Given the description of an element on the screen output the (x, y) to click on. 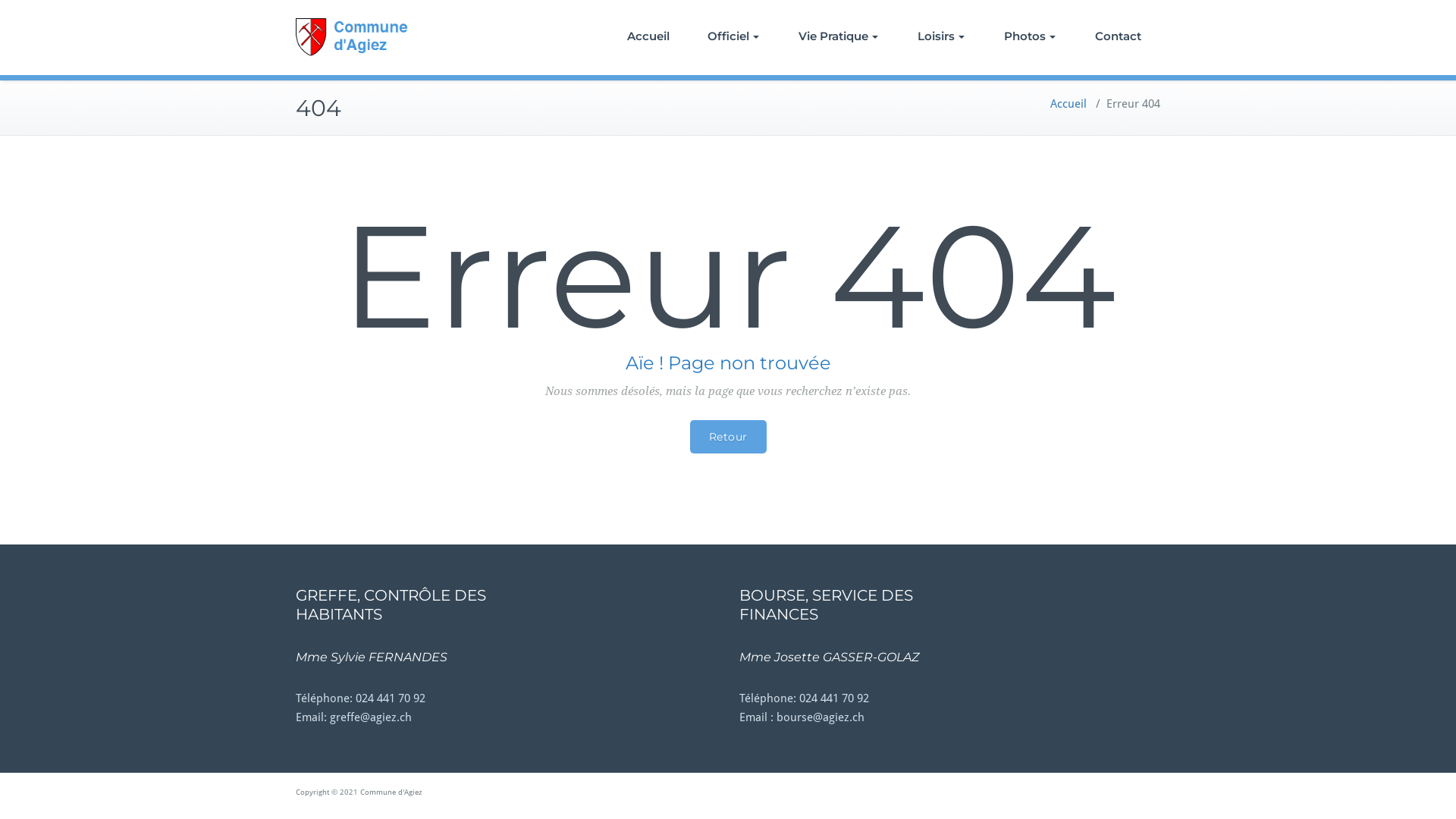
Photos Element type: text (1029, 36)
Officiel Element type: text (733, 36)
Vie Pratique Element type: text (838, 36)
Contact Element type: text (1118, 36)
Accueil Element type: text (648, 36)
Retour Element type: text (728, 436)
Accueil Element type: text (1068, 103)
Skip to content Element type: text (0, 0)
Loisirs Element type: text (940, 36)
